Given the description of an element on the screen output the (x, y) to click on. 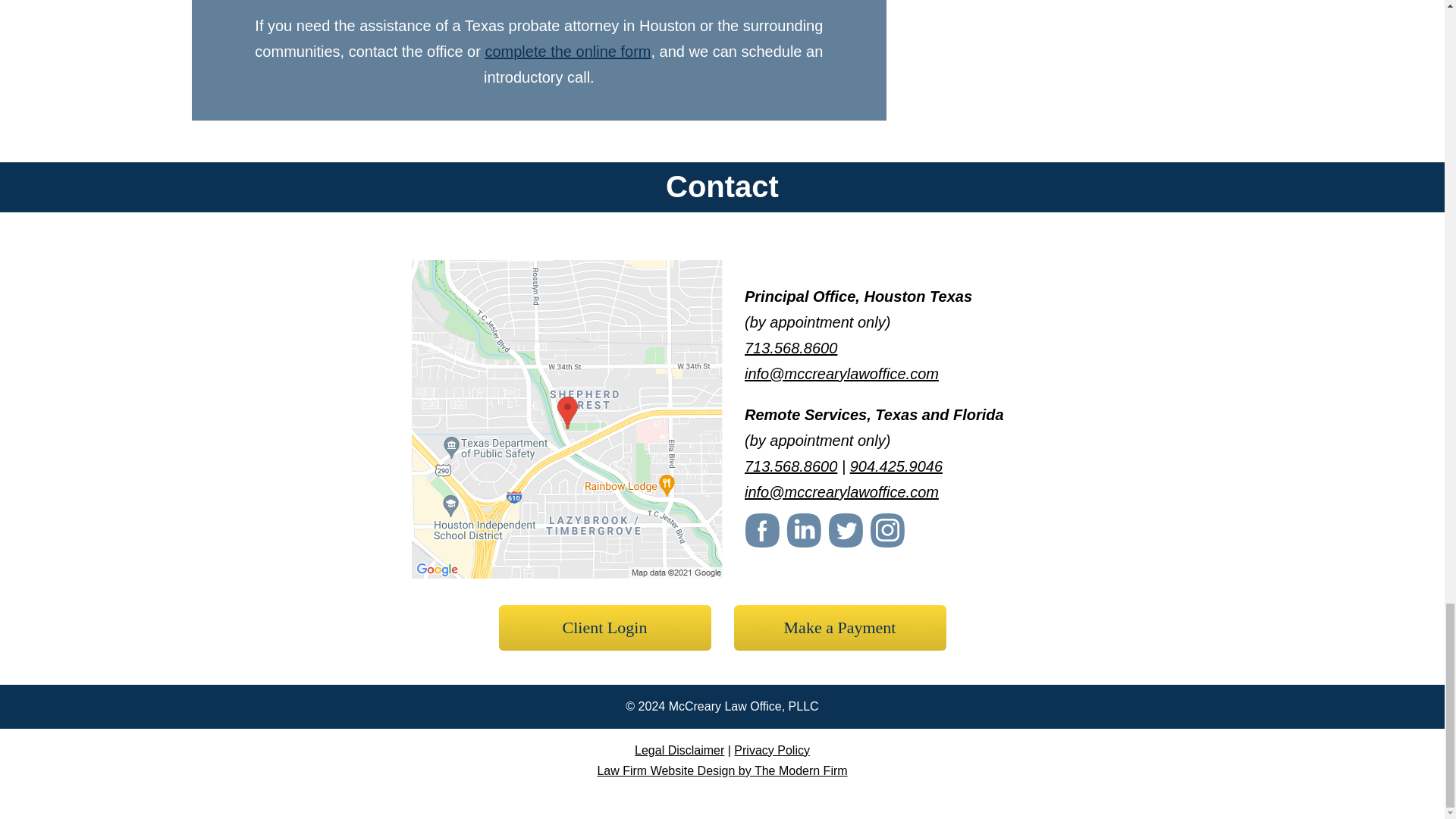
Click to view this map on Google Maps (567, 571)
Law Firm Website Design (721, 770)
Disclaimer (678, 749)
